Given the description of an element on the screen output the (x, y) to click on. 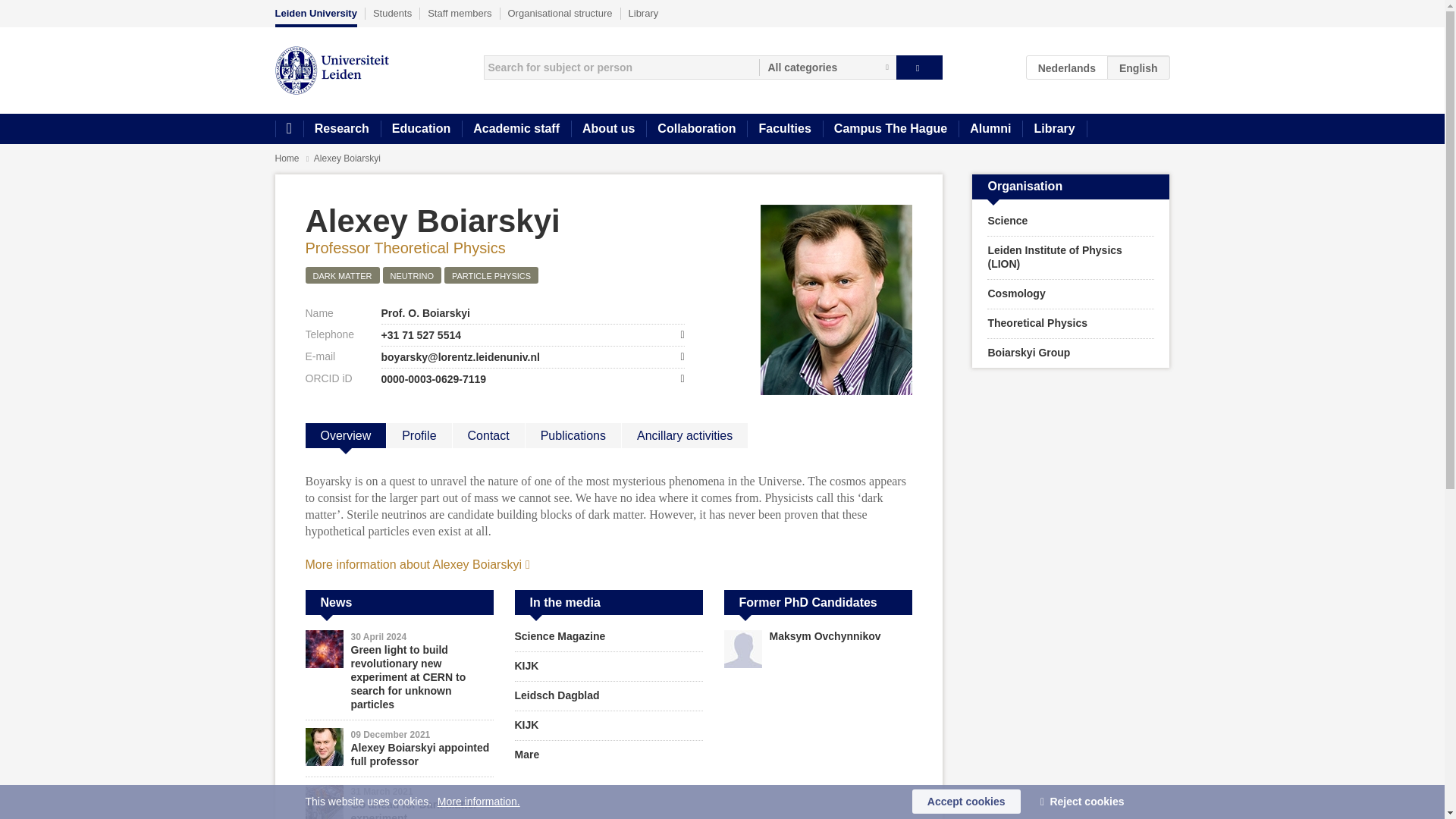
NEUTRINO (411, 274)
Library (1054, 128)
Organisational structure (560, 13)
Publications (572, 435)
Ancillary activities (684, 435)
Home (286, 158)
Profile (418, 435)
Research (341, 128)
Leiden University (315, 17)
Alumni (990, 128)
About us (608, 128)
Search (919, 67)
Campus The Hague (890, 128)
All categories (827, 67)
Home (288, 128)
